Given the description of an element on the screen output the (x, y) to click on. 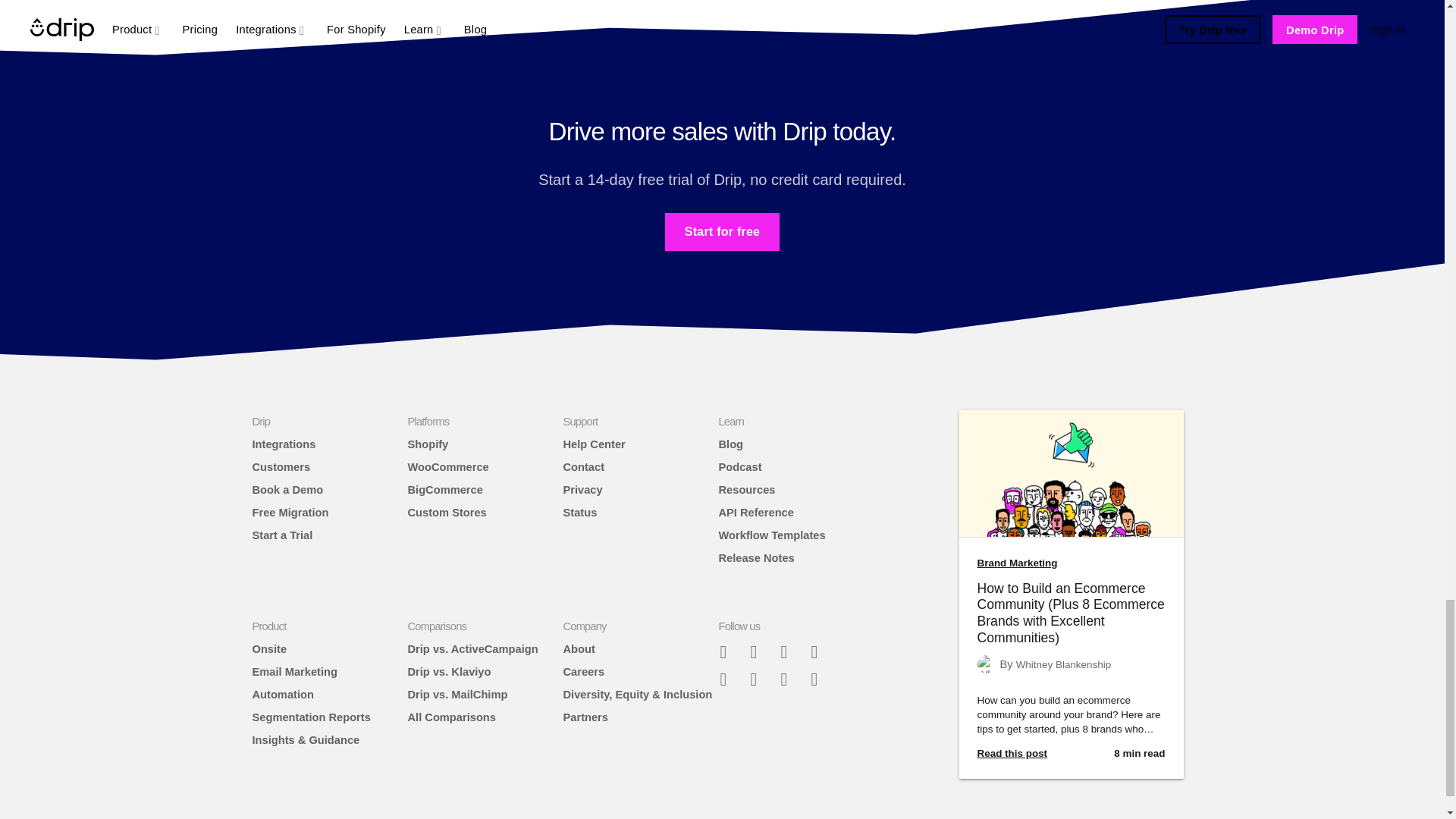
Spotify (759, 678)
Slack (729, 651)
Instagram (820, 651)
Tiktok (729, 678)
Linkedin (789, 678)
YouTube (820, 678)
Facebook (759, 651)
Twitter (789, 651)
